Given the description of an element on the screen output the (x, y) to click on. 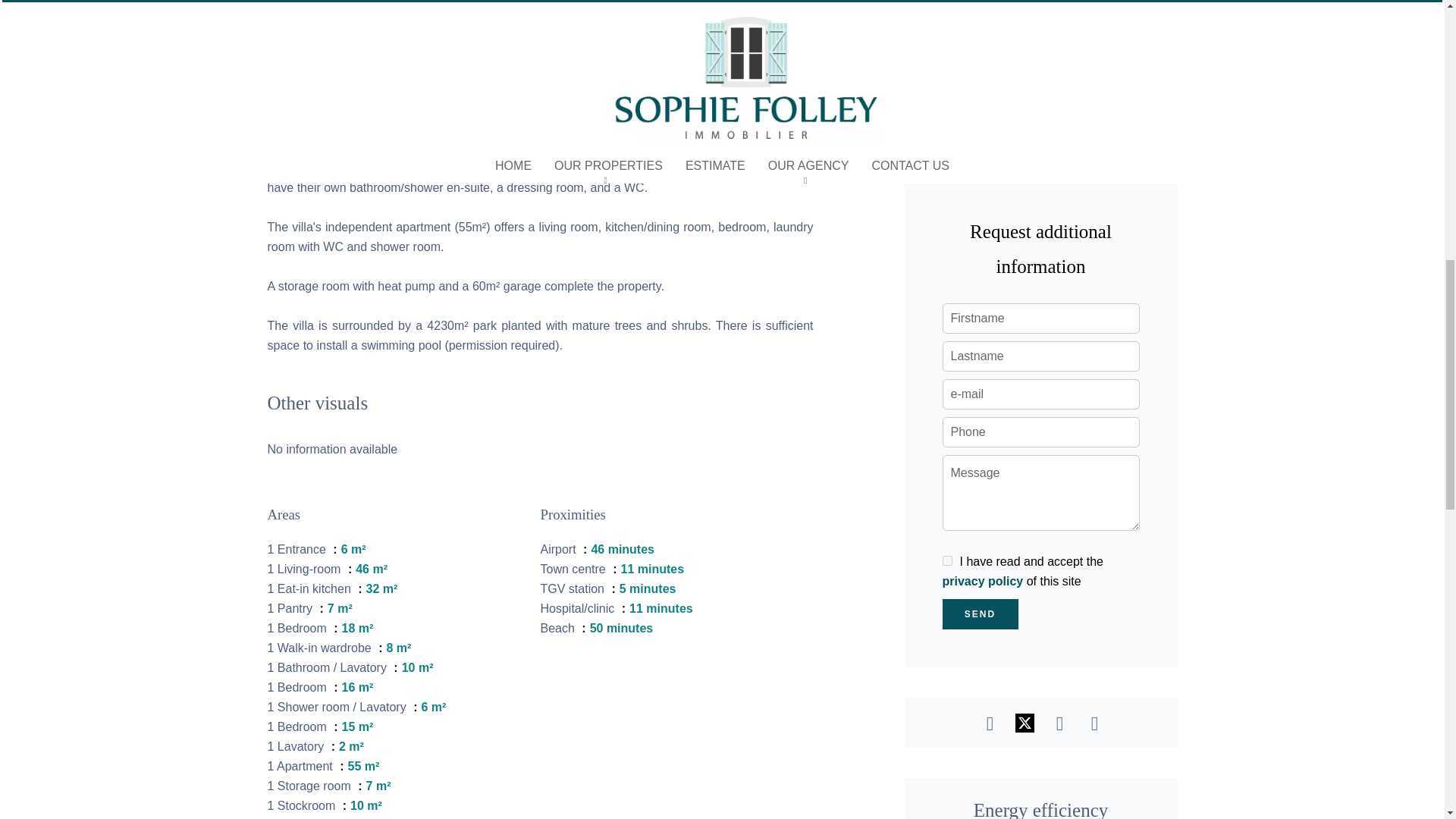
SEND (979, 613)
privacy policy (982, 581)
on (947, 560)
